Given the description of an element on the screen output the (x, y) to click on. 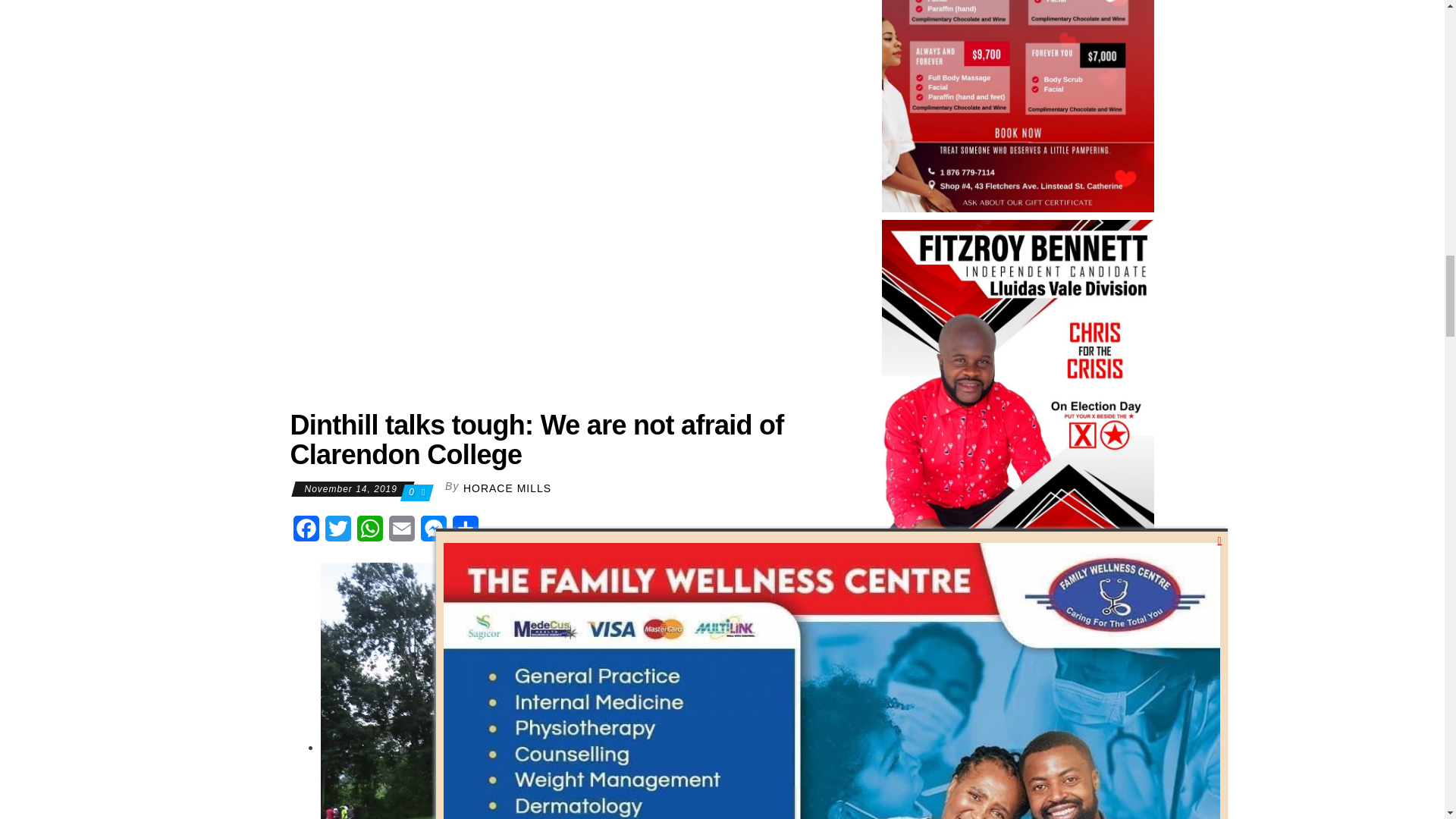
Email (400, 532)
Twitter (337, 532)
0 (413, 491)
Twitter (337, 532)
WhatsApp (369, 532)
WhatsApp (369, 532)
Messenger (432, 532)
HORACE MILLS (507, 488)
Facebook (305, 532)
Email (400, 532)
Messenger (432, 532)
Facebook (305, 532)
